Given the description of an element on the screen output the (x, y) to click on. 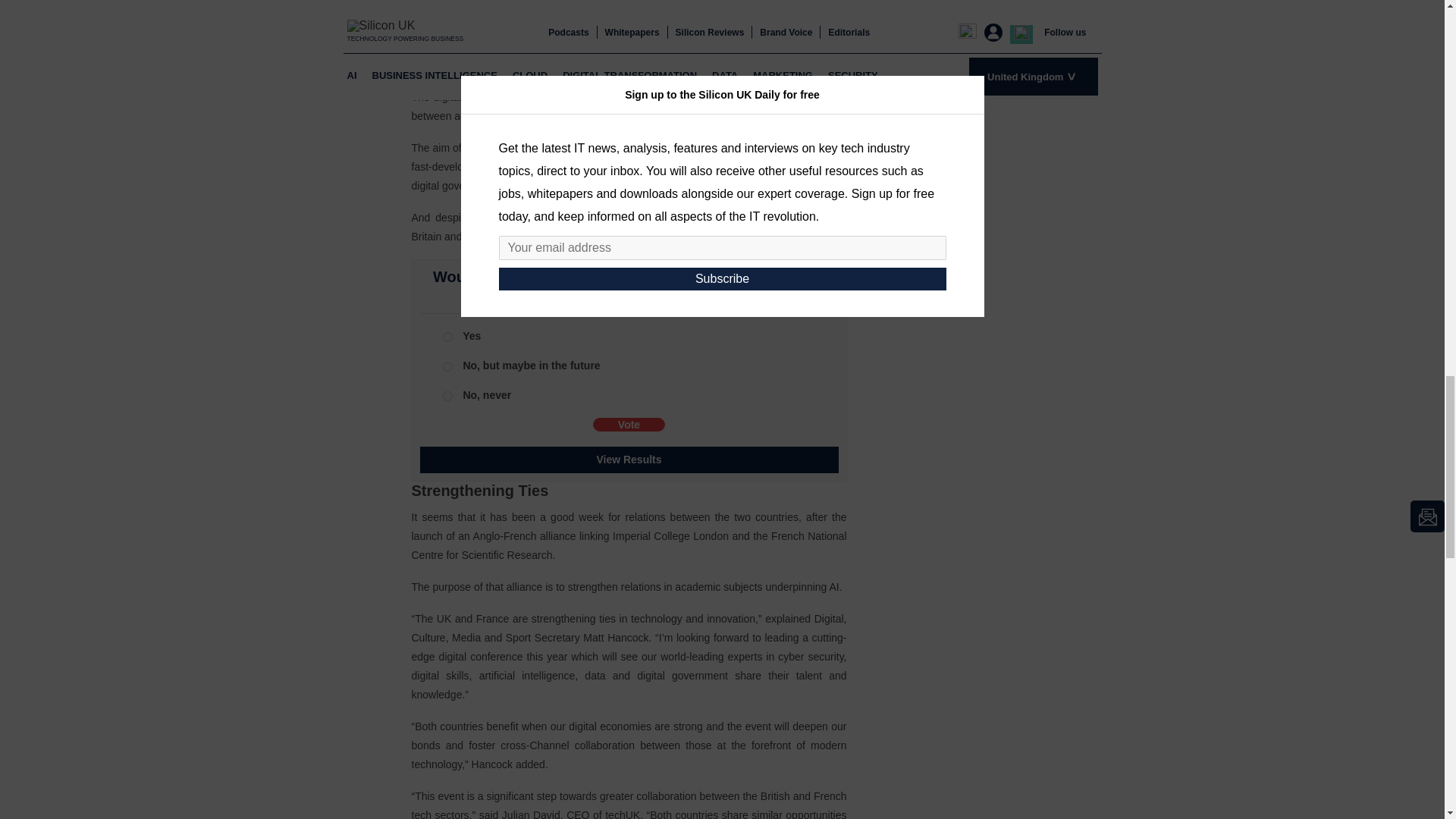
627 (447, 337)
631 (447, 396)
   Vote    (628, 424)
629 (447, 366)
View Results Of This Poll (629, 459)
